Given the description of an element on the screen output the (x, y) to click on. 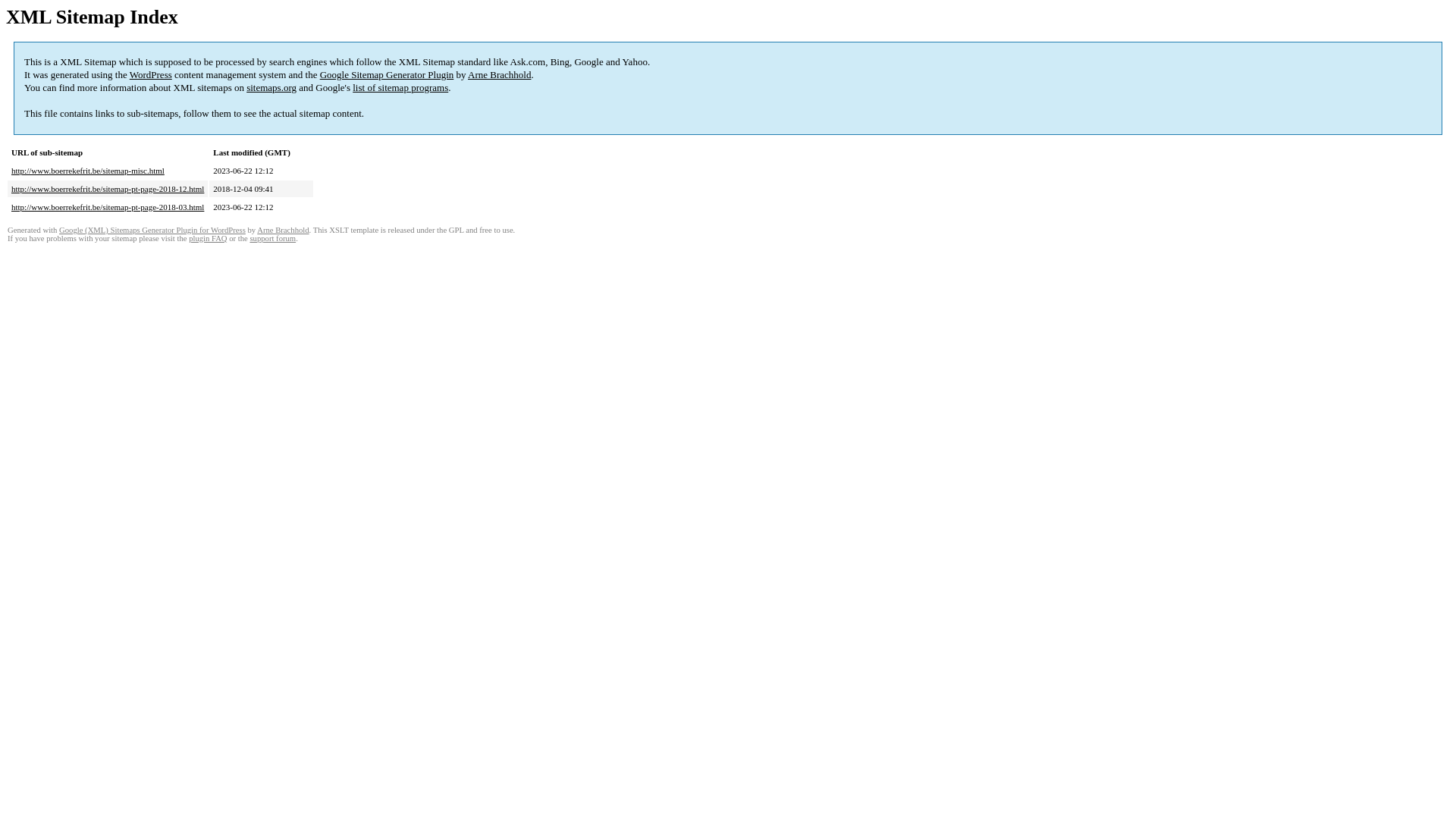
http://www.boerrekefrit.be/sitemap-pt-page-2018-12.html Element type: text (107, 188)
support forum Element type: text (272, 238)
Arne Brachhold Element type: text (282, 229)
http://www.boerrekefrit.be/sitemap-pt-page-2018-03.html Element type: text (107, 206)
WordPress Element type: text (150, 74)
plugin FAQ Element type: text (207, 238)
Arne Brachhold Element type: text (498, 74)
Google Sitemap Generator Plugin Element type: text (387, 74)
Google (XML) Sitemaps Generator Plugin for WordPress Element type: text (152, 229)
list of sitemap programs Element type: text (400, 87)
sitemaps.org Element type: text (271, 87)
http://www.boerrekefrit.be/sitemap-misc.html Element type: text (87, 170)
